Given the description of an element on the screen output the (x, y) to click on. 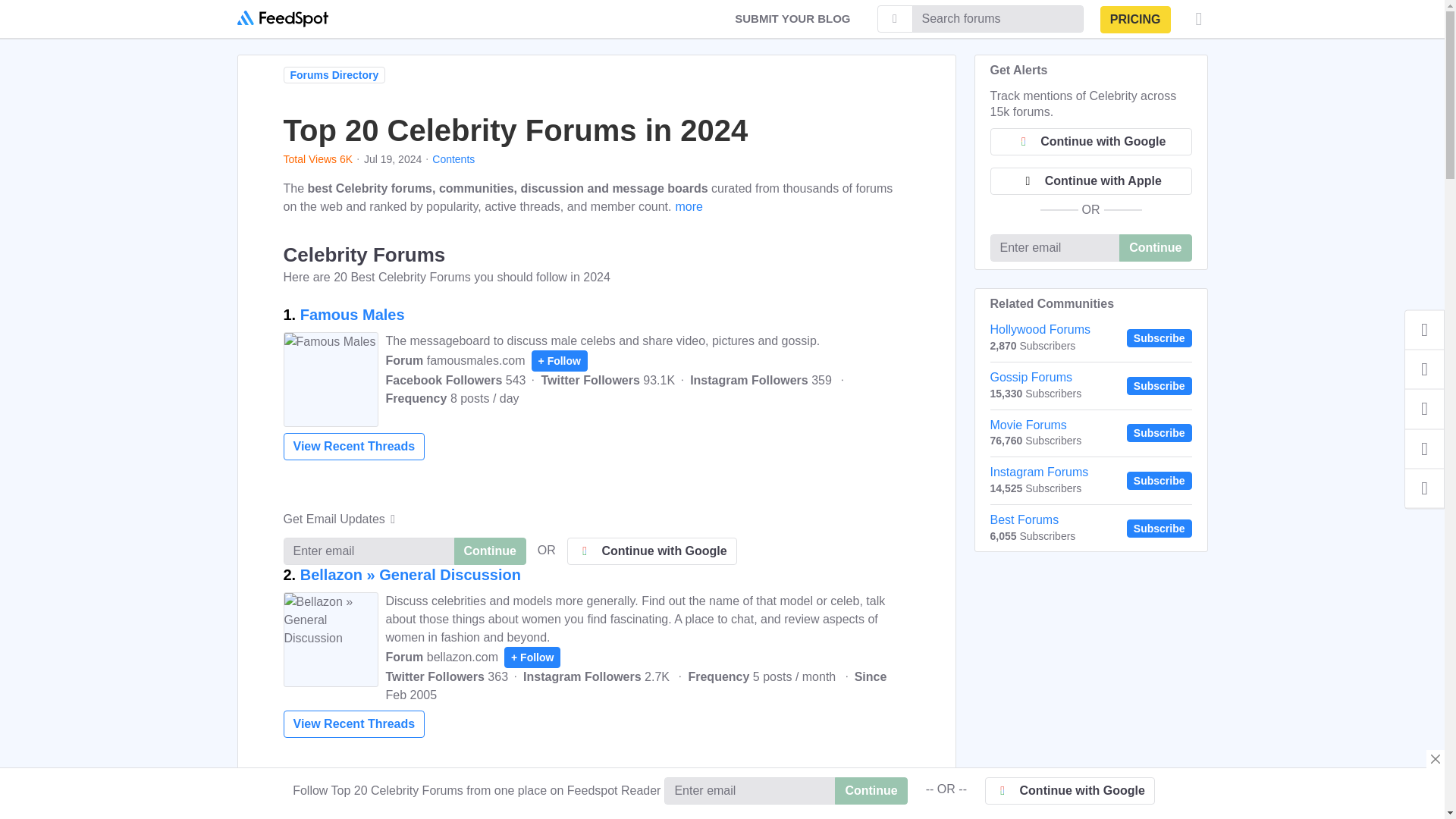
Share Top 10 Celebrity Forums on Email (1423, 447)
Famous Males (351, 314)
Contents (453, 159)
Continue (870, 790)
Twitter Followers (446, 676)
Share Top 10 Celebrity Forums on Twitter (1423, 368)
PRICING (1135, 19)
Continue (488, 551)
Continue (488, 551)
Share Top 10 Celebrity Forums on Facebook (1423, 329)
Continue (488, 551)
Forums Directory (334, 74)
Continue (488, 816)
Continue (1155, 247)
Forums Directory (337, 77)
